Given the description of an element on the screen output the (x, y) to click on. 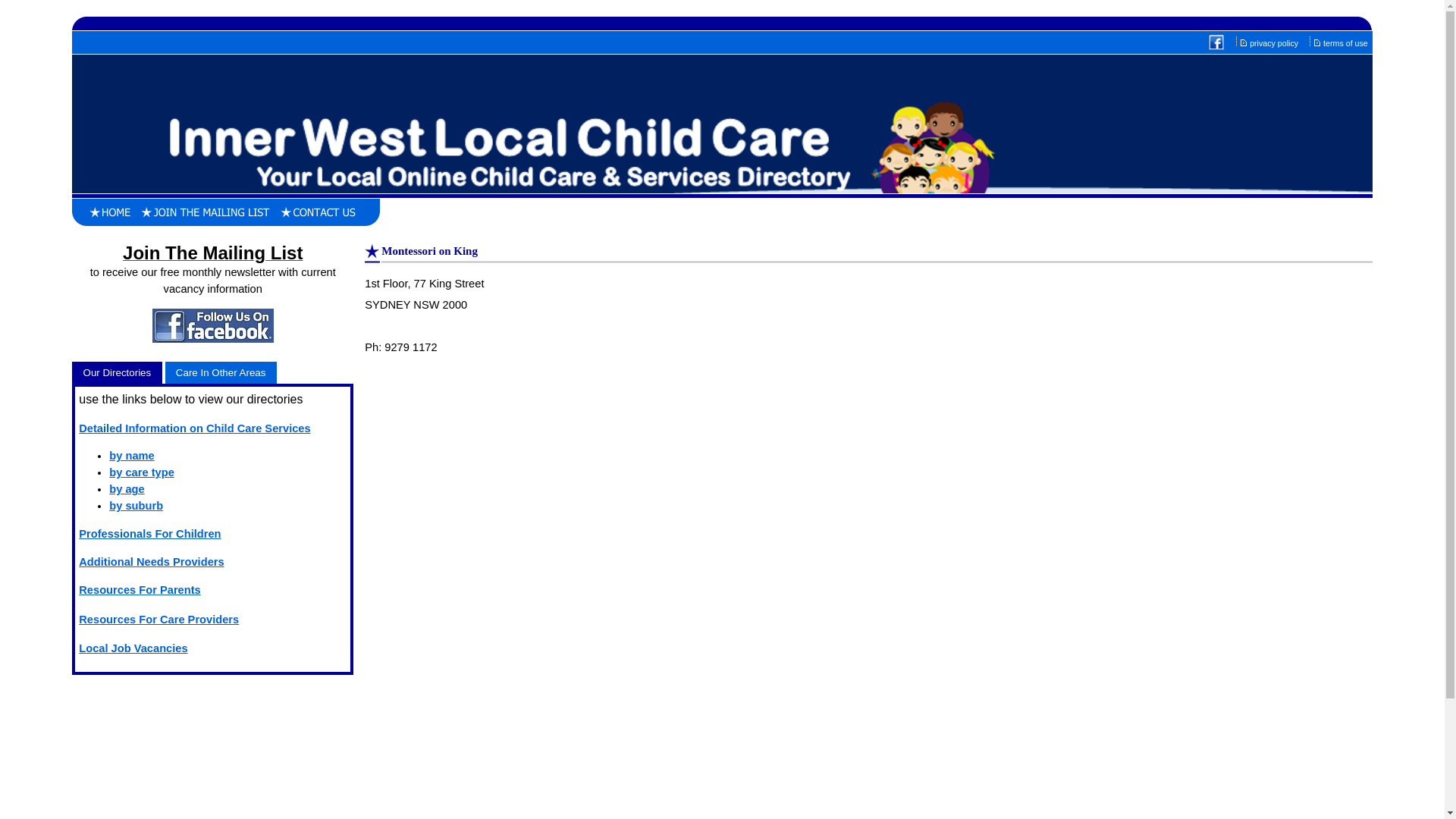
Resources For Care Providers Element type: text (158, 619)
by age Element type: text (126, 489)
by care type Element type: text (141, 472)
by name Element type: text (131, 455)
privacy policy Element type: text (1274, 43)
Resources For Parents Element type: text (139, 589)
Care In Other Areas Element type: text (220, 372)
Our Directories Element type: text (116, 372)
Additional Needs Providers Element type: text (150, 561)
Local Job Vacancies Element type: text (132, 648)
Professionals For Children Element type: text (149, 533)
by suburb Element type: text (136, 505)
Detailed Information on Child Care Services Element type: text (194, 428)
Join The Mailing List Element type: text (212, 255)
terms of use Element type: text (1346, 43)
